Given the description of an element on the screen output the (x, y) to click on. 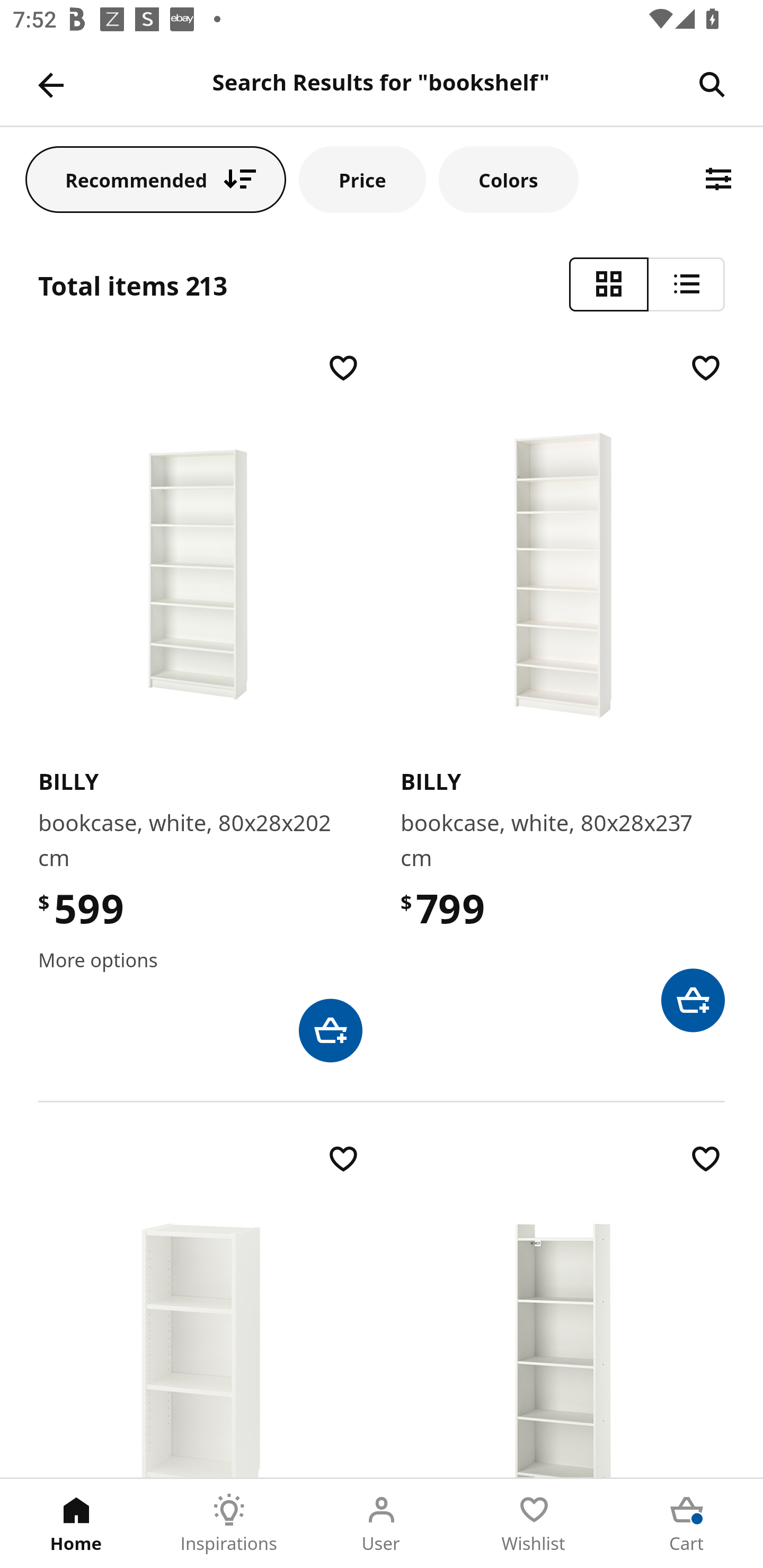
Recommended (155, 179)
Price (362, 179)
Colors (508, 179)
​B​I​L​L​Y​
bookcase, white, 80x28x237 cm
$
799 (562, 690)
​B​I​L​L​Y​
bookcase, white, 40x28x106 cm
$
279 (200, 1308)
Home
Tab 1 of 5 (76, 1522)
Inspirations
Tab 2 of 5 (228, 1522)
User
Tab 3 of 5 (381, 1522)
Wishlist
Tab 4 of 5 (533, 1522)
Cart
Tab 5 of 5 (686, 1522)
